Given the description of an element on the screen output the (x, y) to click on. 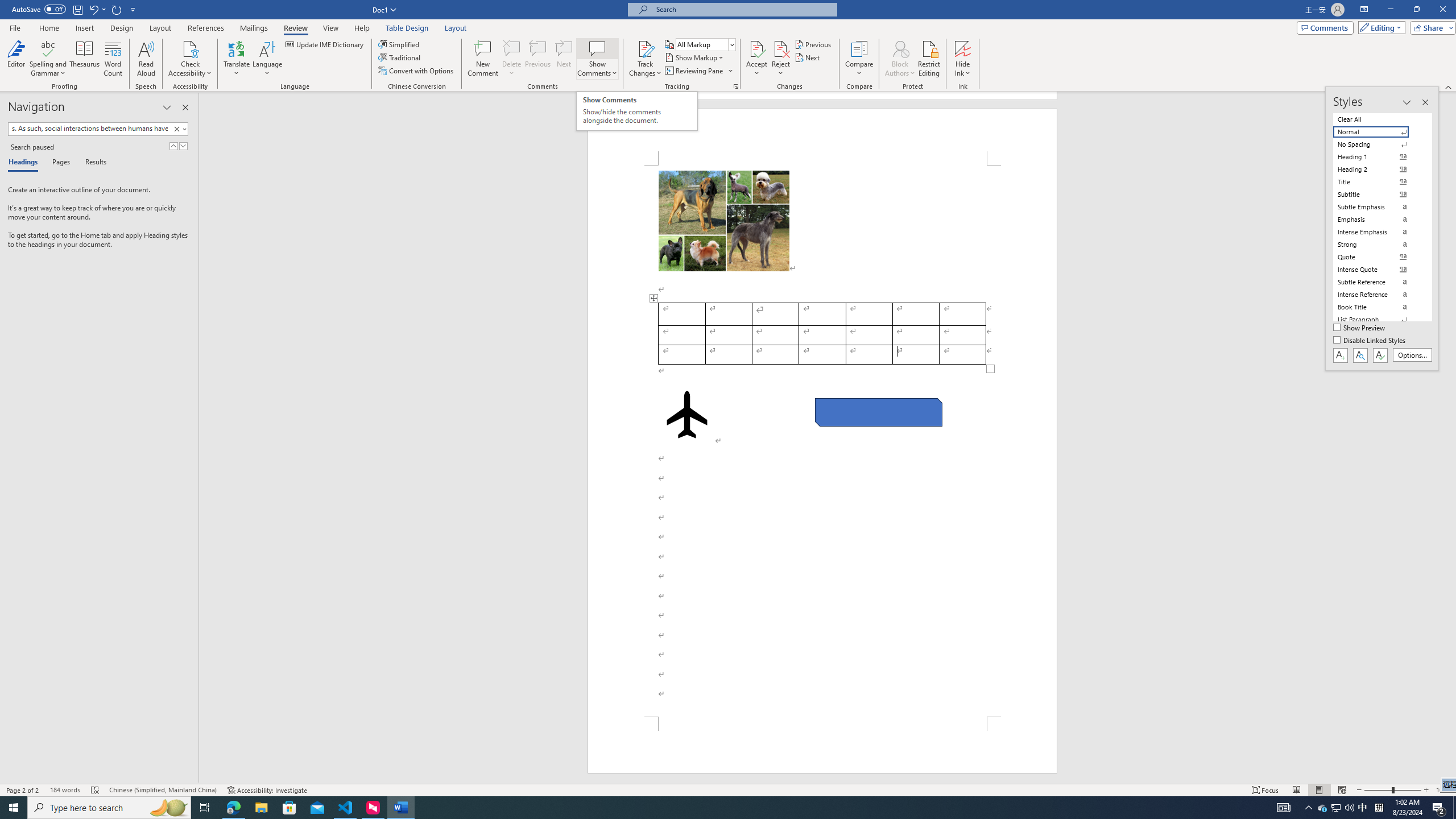
Show Comments (597, 48)
Show Markup (695, 56)
Subtle Reference (1377, 282)
Undo Style (92, 9)
Quote (1377, 256)
Reject and Move to Next (780, 48)
List Paragraph (1377, 319)
Search document (89, 128)
